Given the description of an element on the screen output the (x, y) to click on. 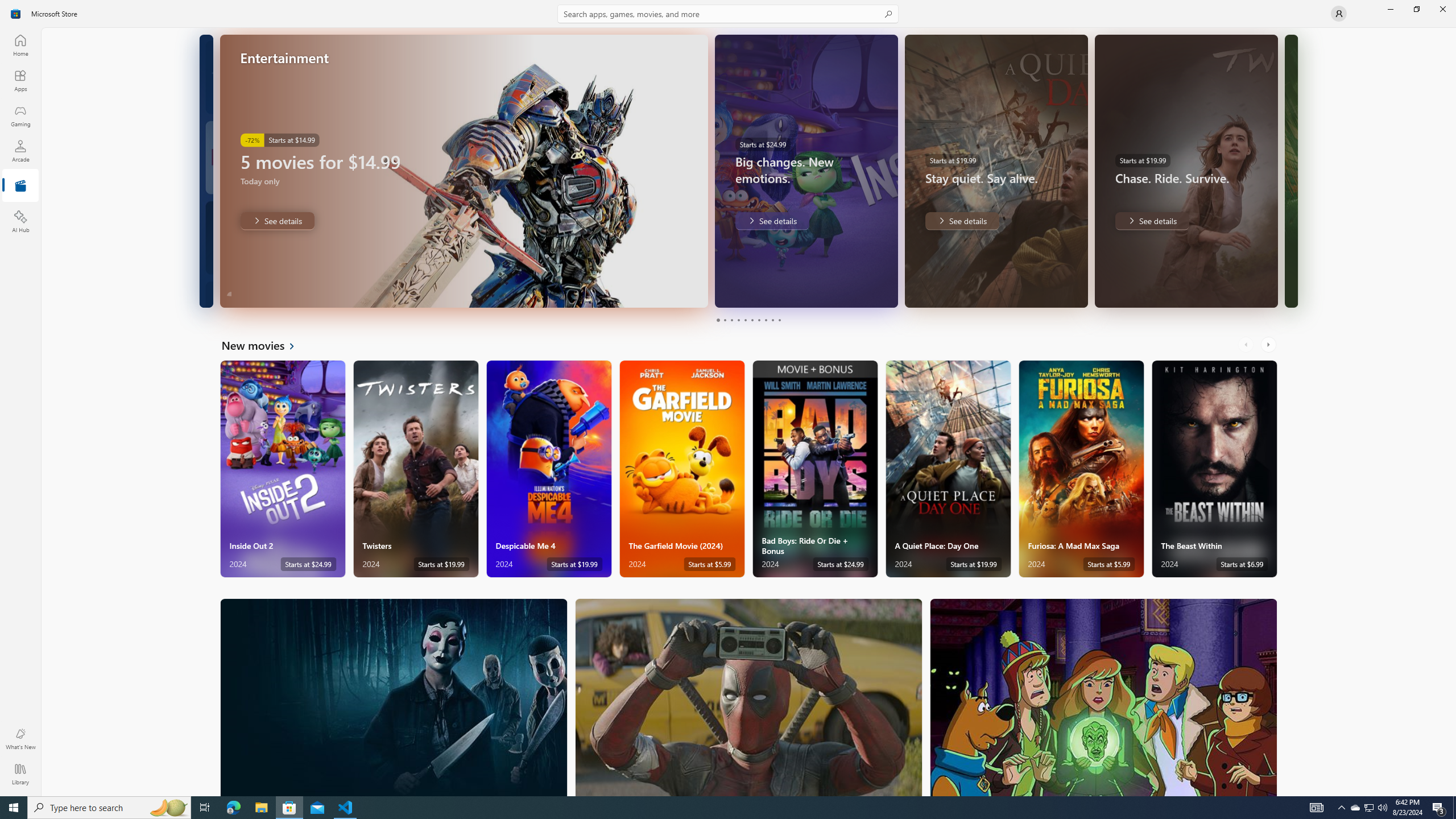
Page 10 (779, 319)
Restore Microsoft Store (1416, 9)
Minimize Microsoft Store (1390, 9)
Play Trailer (858, 291)
Close Microsoft Store (1442, 9)
Home (20, 45)
Gaming (20, 115)
Page 9 (772, 319)
Bad Boys: Ride Or Die + Bonus. Starts at $24.99   (814, 469)
Page 5 (744, 319)
Entertainment (20, 185)
AutomationID: LeftScrollButton (1246, 344)
Page 3 (731, 319)
